Given the description of an element on the screen output the (x, y) to click on. 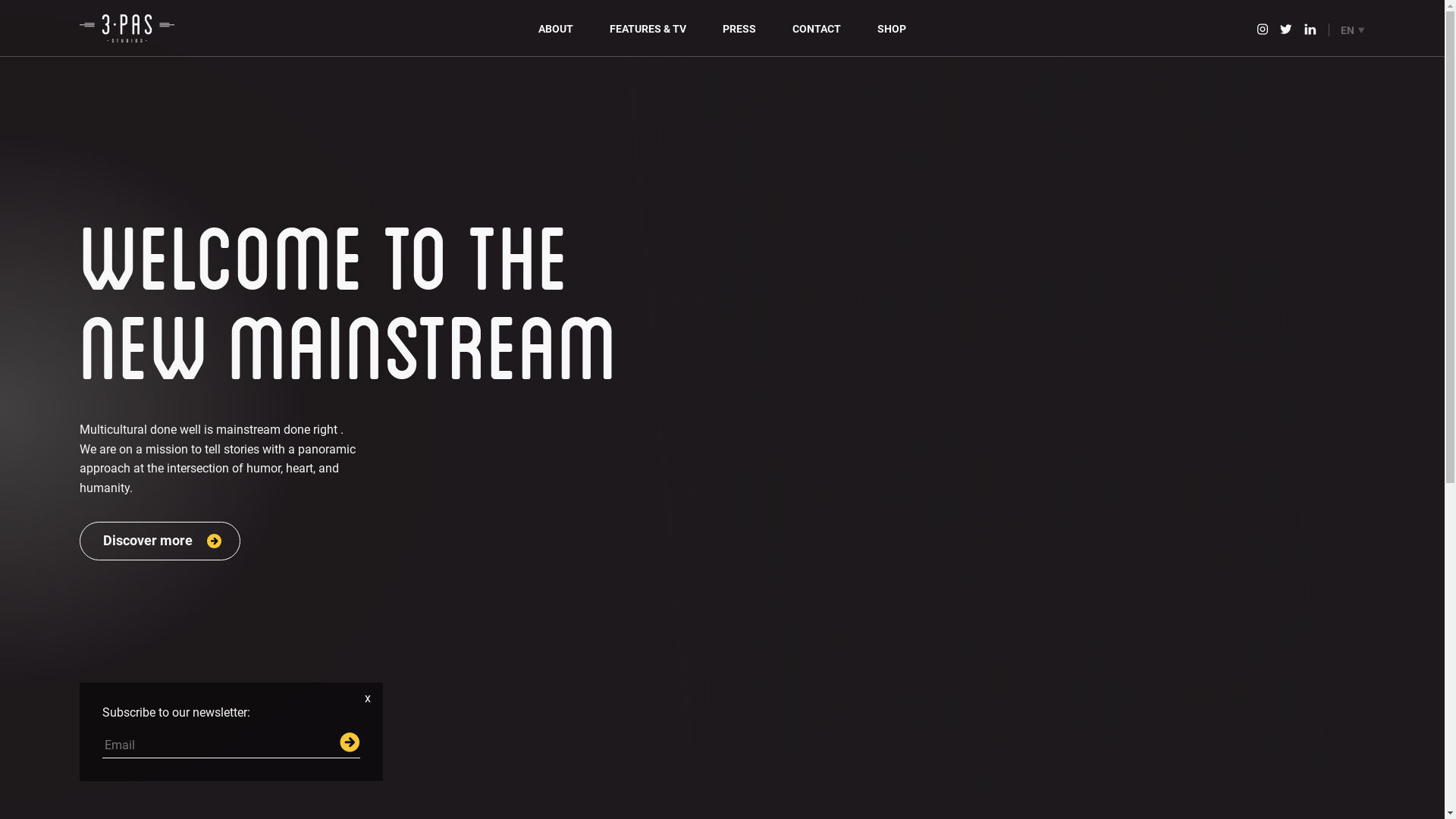
x Element type: text (366, 697)
Discover more Element type: text (158, 540)
SHOP Element type: text (891, 28)
ABOUT Element type: text (555, 28)
CONTACT Element type: text (816, 28)
PRESS Element type: text (739, 28)
FEATURES & TV Element type: text (647, 28)
